Given the description of an element on the screen output the (x, y) to click on. 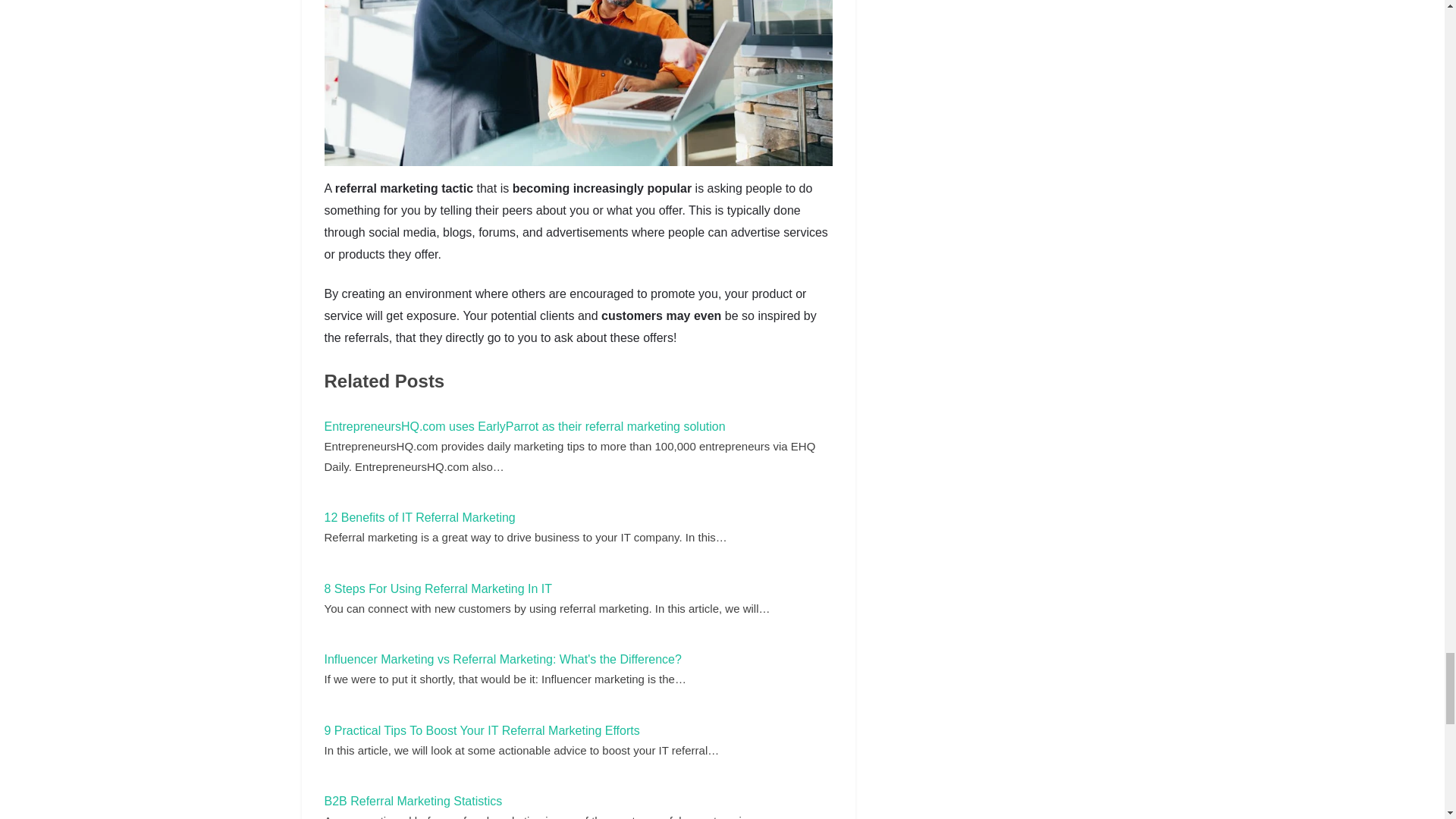
12 Benefits of IT Referral Marketing (419, 517)
9 Practical Tips To Boost Your IT Referral Marketing Efforts (482, 730)
B2B Referral Marketing Statistics (413, 800)
8 Steps For Using Referral Marketing In IT (438, 588)
